Given the description of an element on the screen output the (x, y) to click on. 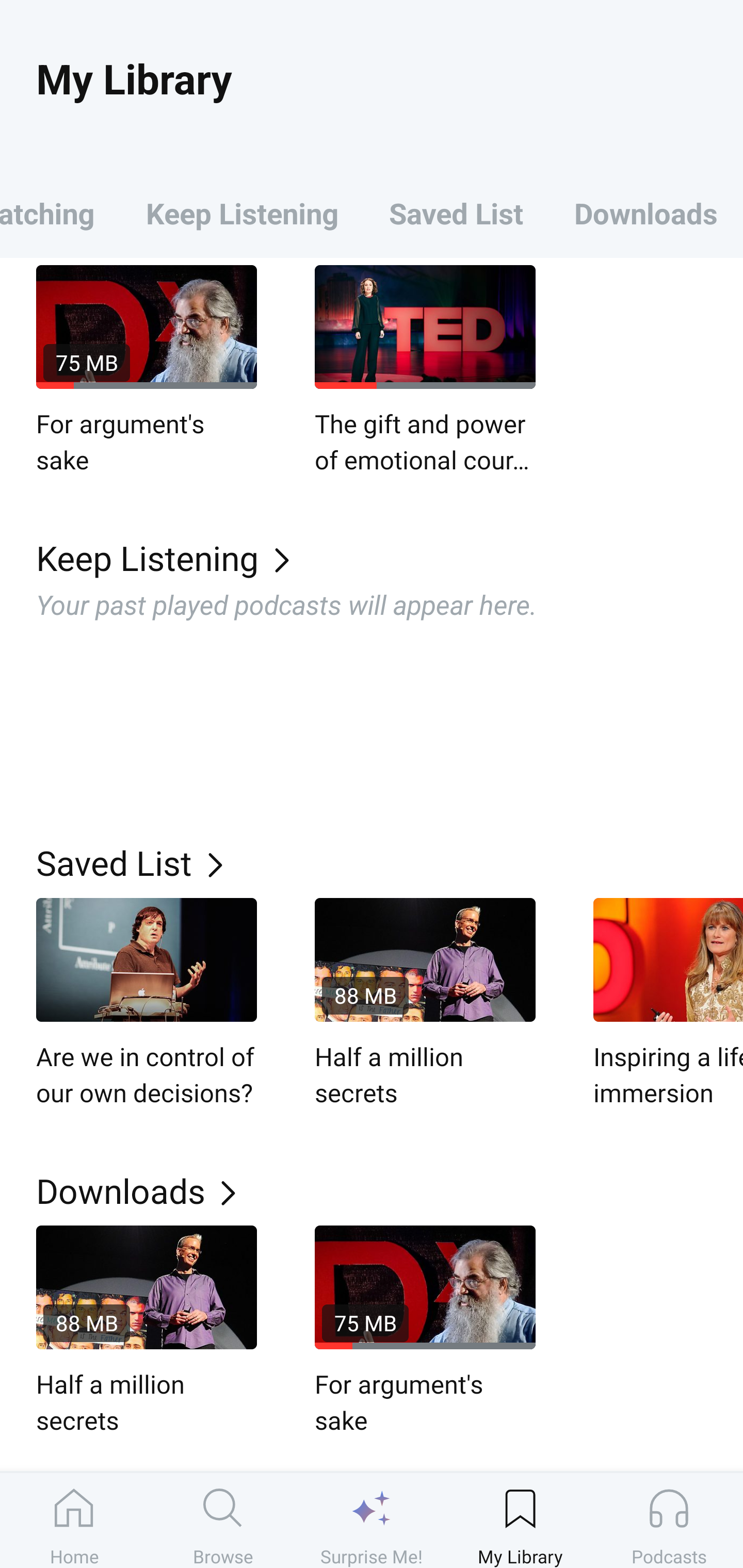
Keep Watching (60, 212)
Keep Listening (242, 212)
Saved List (456, 212)
Downloads (646, 212)
75 MB For argument's sake (146, 370)
The gift and power of emotional courage (425, 370)
Keep Listening (389, 557)
Saved List (389, 862)
Are we in control of our own decisions? (146, 1004)
88 MB Half a million secrets (425, 1004)
Inspiring a life of immersion (668, 1004)
Downloads (389, 1190)
88 MB Half a million secrets (146, 1331)
75 MB For argument's sake (425, 1331)
Home (74, 1520)
Browse (222, 1520)
Surprise Me! (371, 1520)
My Library (519, 1520)
Podcasts (668, 1520)
